Given the description of an element on the screen output the (x, y) to click on. 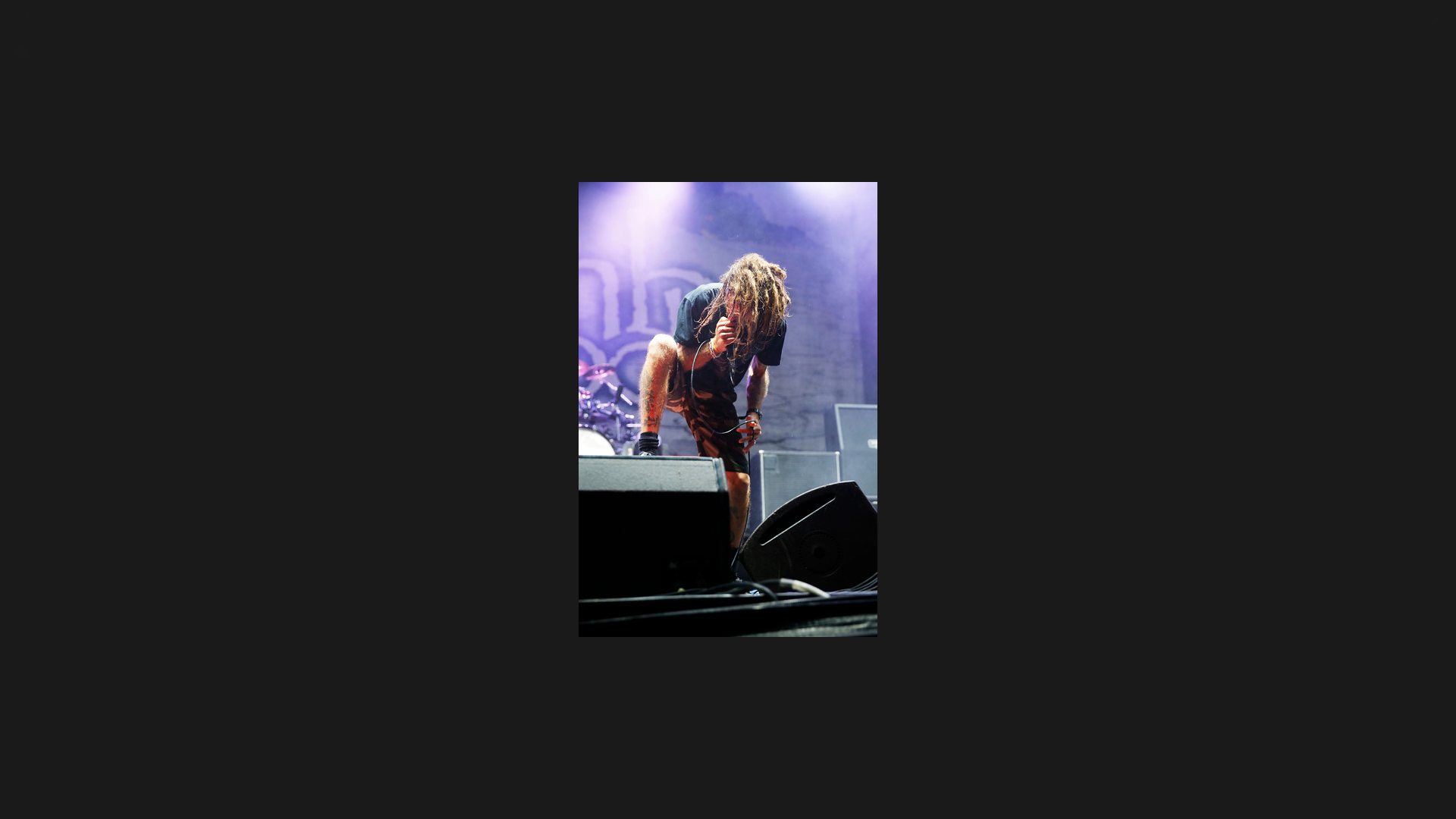
HOME Element type: text (667, 188)
Powered by SmugMug Element type: text (697, 728)
Owner Log In Element type: text (768, 741)
BROWSE Element type: text (721, 188)
SEARCH Element type: text (782, 188)
